Given the description of an element on the screen output the (x, y) to click on. 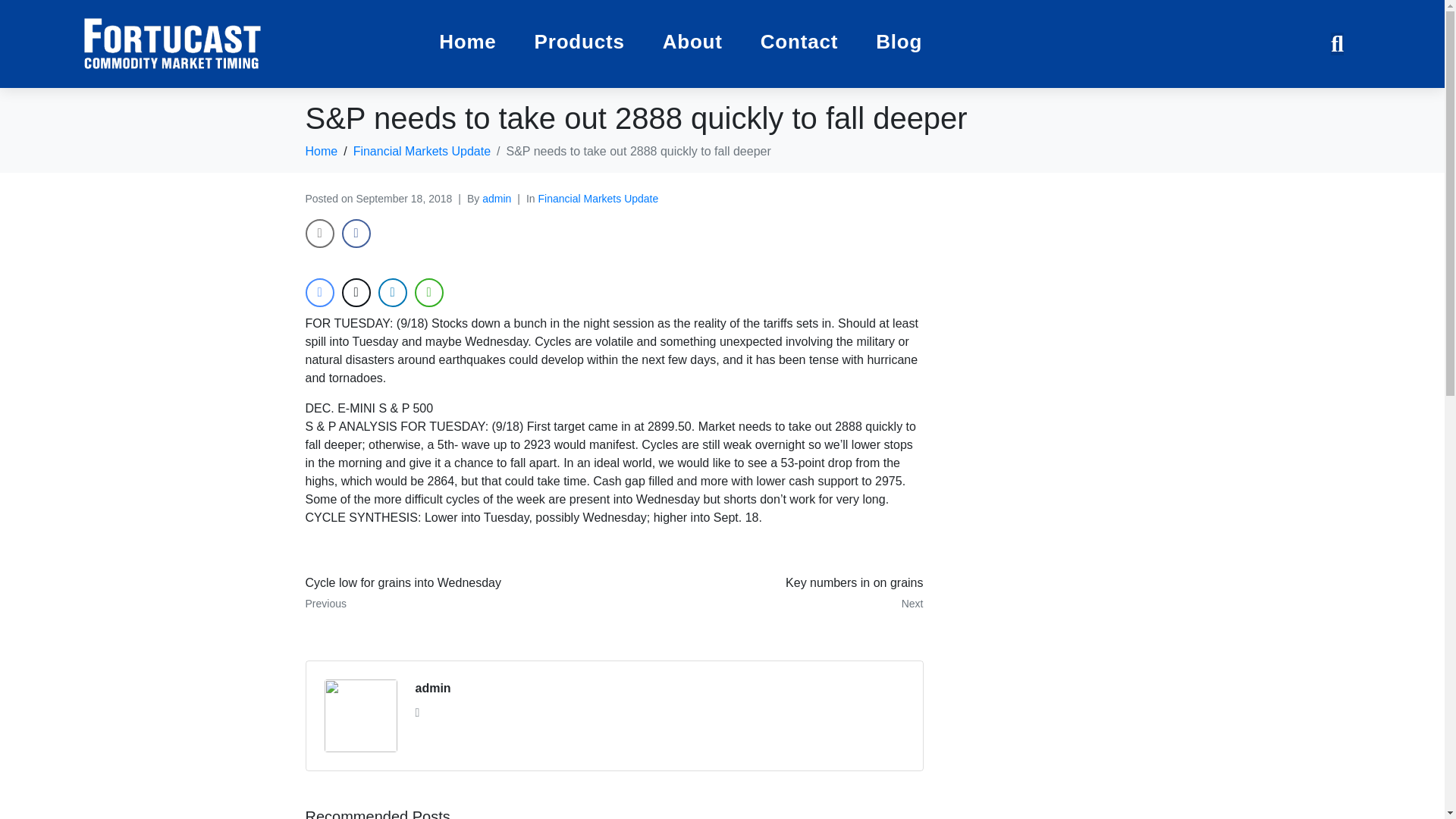
Cycle low for grains into Wednesday (454, 593)
Home (320, 151)
admin (454, 593)
Products (432, 688)
Key numbers in on grains (579, 43)
Financial Markets Update (774, 593)
admin (421, 151)
Financial Markets Update (496, 198)
